Given the description of an element on the screen output the (x, y) to click on. 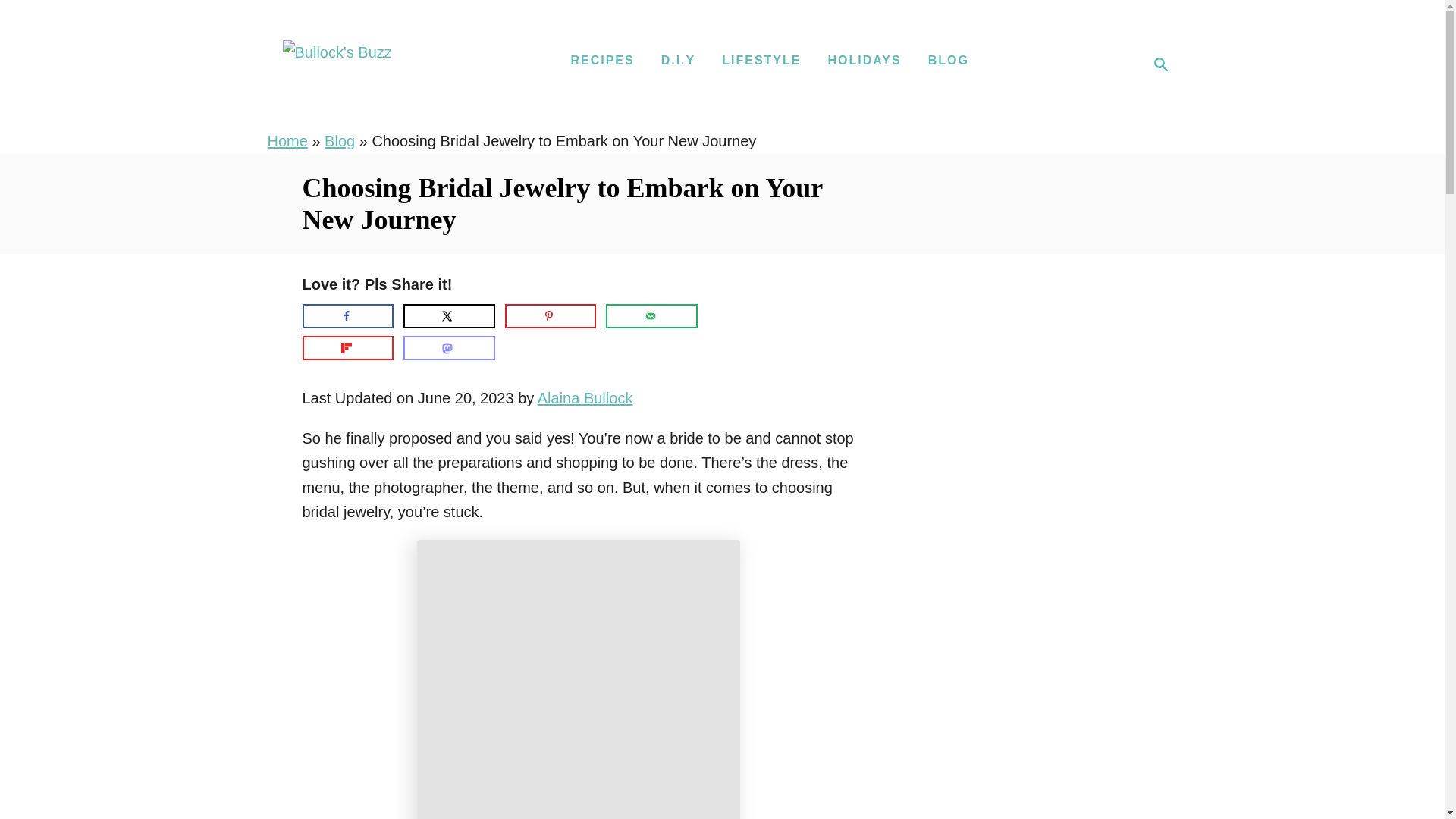
D.I.Y (678, 60)
Send over email (651, 315)
Share on Flipboard (347, 347)
RECIPES (602, 60)
Save to Pinterest (550, 315)
Magnifying Glass (1160, 64)
LIFESTYLE (761, 60)
Bullock's Buzz (336, 64)
Share on Facebook (1155, 64)
